Given the description of an element on the screen output the (x, y) to click on. 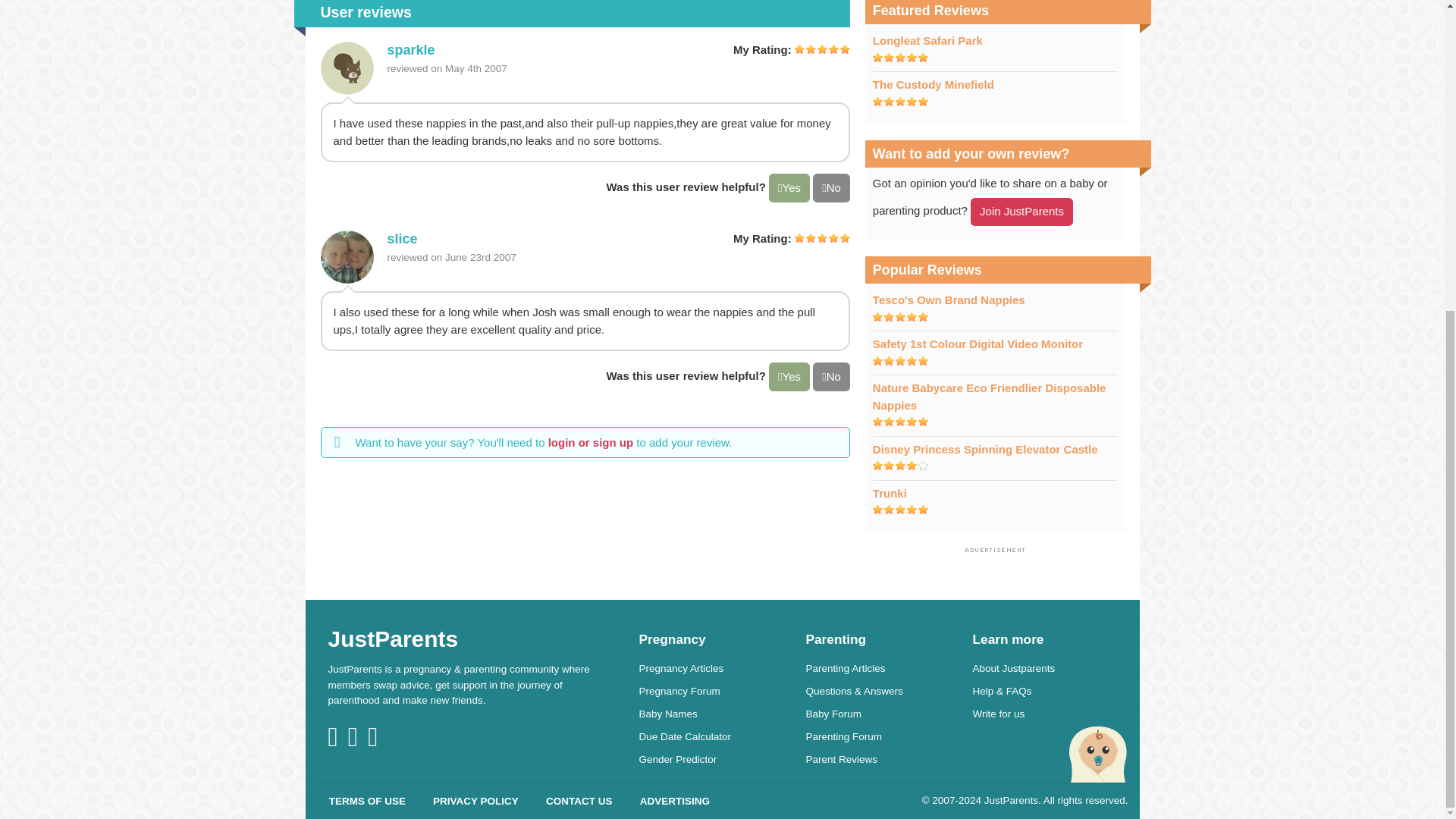
Excellent (900, 509)
Excellent (900, 101)
Excellent (822, 49)
Excellent (822, 237)
sparkle (346, 68)
Excellent (900, 316)
Yes (788, 376)
Good (900, 465)
Trunki (889, 492)
sparkle (410, 49)
